Given the description of an element on the screen output the (x, y) to click on. 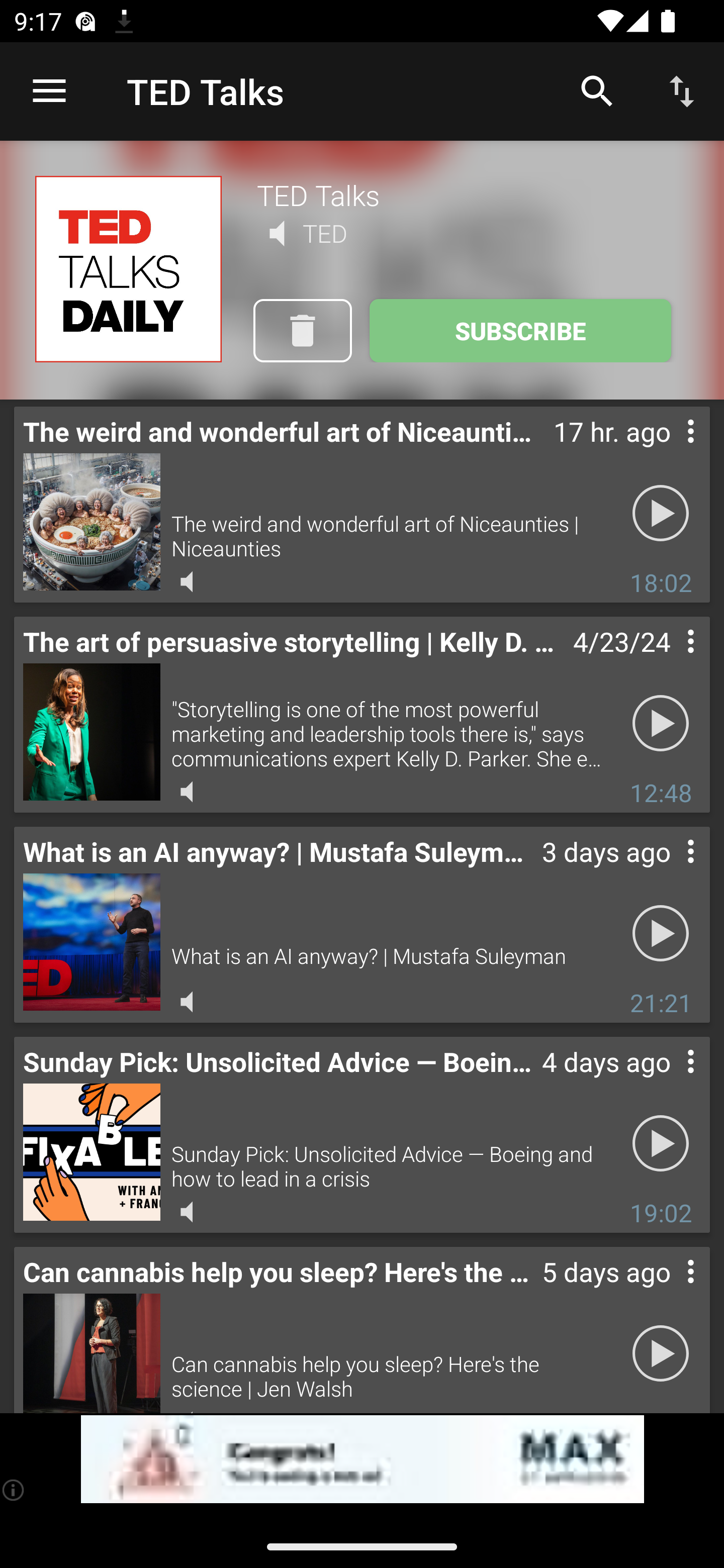
Open navigation sidebar (49, 91)
Search (597, 90)
Sort (681, 90)
Delete (302, 330)
SUBSCRIBE (520, 330)
Contextual menu (668, 451)
Play (660, 513)
Contextual menu (668, 661)
Play (660, 723)
Contextual menu (668, 870)
Play (660, 933)
Contextual menu (668, 1080)
Play (660, 1143)
Contextual menu (668, 1290)
Play (660, 1353)
app-monetization (362, 1459)
(i) (14, 1489)
